Given the description of an element on the screen output the (x, y) to click on. 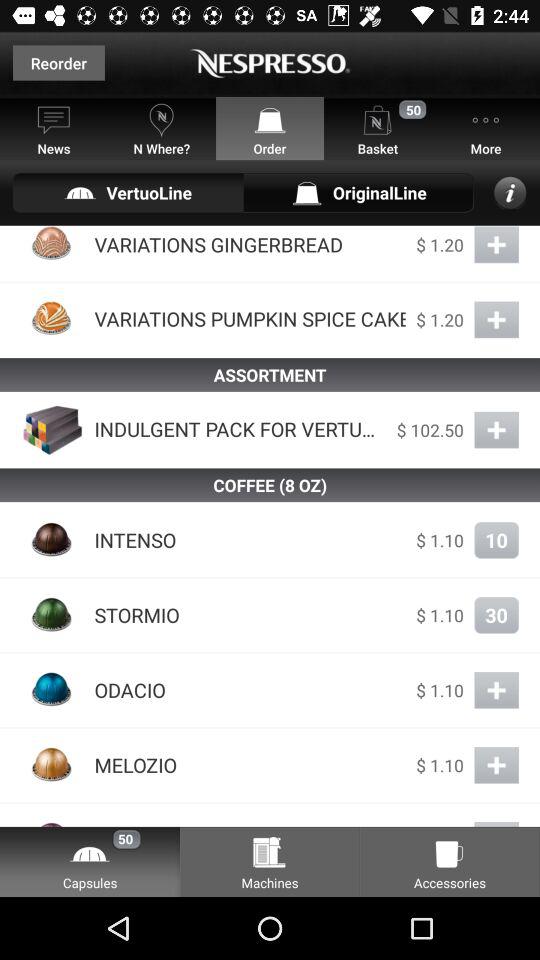
click the image at left side of intenso (52, 540)
select the button vertuoline on the page (128, 192)
click on  button which is beside melozio (496, 765)
select the icon which is on the left side of stormio (52, 615)
